Given the description of an element on the screen output the (x, y) to click on. 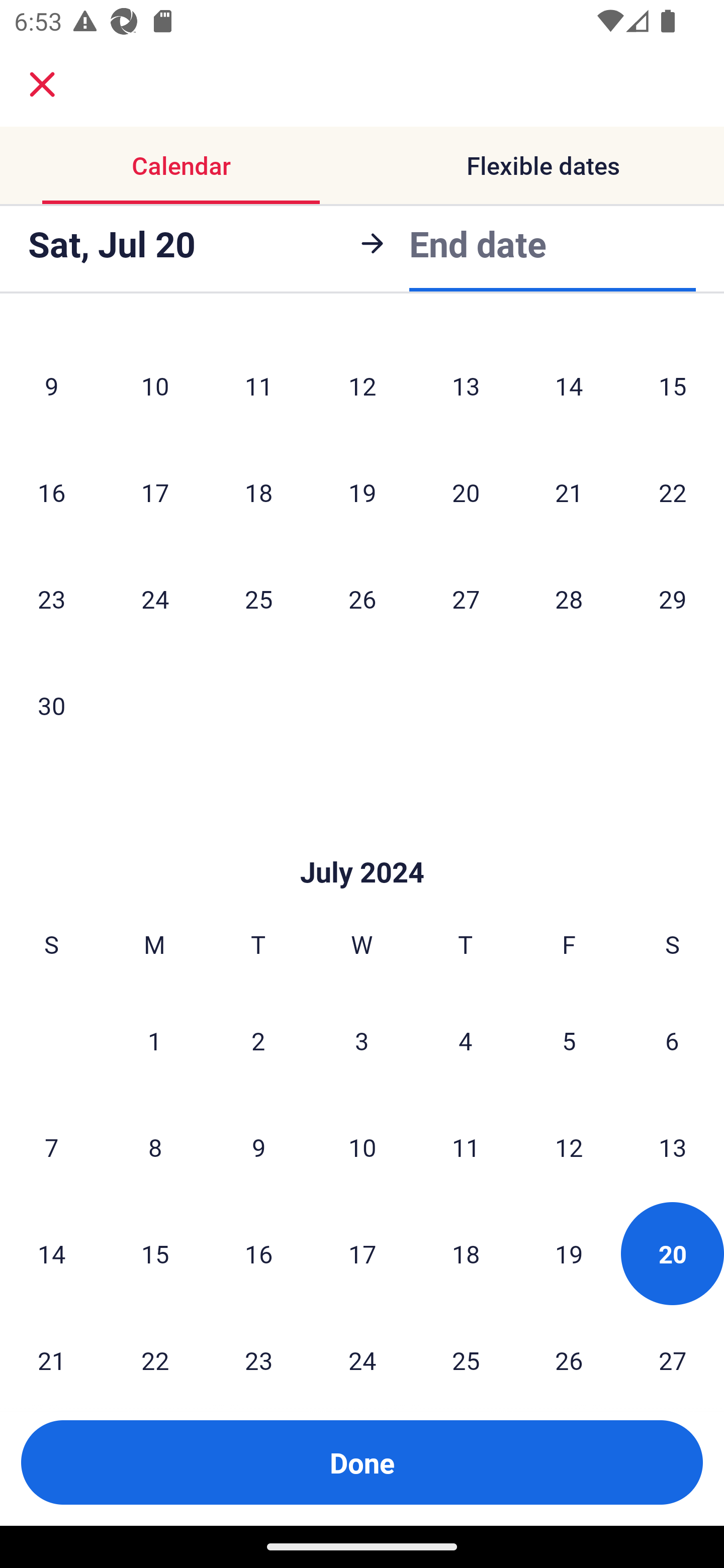
close. (42, 84)
Flexible dates (542, 164)
End date (477, 240)
9 Sunday, June 9, 2024 (51, 385)
10 Monday, June 10, 2024 (155, 385)
11 Tuesday, June 11, 2024 (258, 385)
12 Wednesday, June 12, 2024 (362, 385)
13 Thursday, June 13, 2024 (465, 385)
14 Friday, June 14, 2024 (569, 385)
15 Saturday, June 15, 2024 (672, 385)
16 Sunday, June 16, 2024 (51, 492)
17 Monday, June 17, 2024 (155, 492)
18 Tuesday, June 18, 2024 (258, 492)
19 Wednesday, June 19, 2024 (362, 492)
20 Thursday, June 20, 2024 (465, 492)
21 Friday, June 21, 2024 (569, 492)
22 Saturday, June 22, 2024 (672, 492)
23 Sunday, June 23, 2024 (51, 598)
24 Monday, June 24, 2024 (155, 598)
25 Tuesday, June 25, 2024 (258, 598)
26 Wednesday, June 26, 2024 (362, 598)
27 Thursday, June 27, 2024 (465, 598)
28 Friday, June 28, 2024 (569, 598)
29 Saturday, June 29, 2024 (672, 598)
30 Sunday, June 30, 2024 (51, 705)
Skip to Done (362, 841)
1 Monday, July 1, 2024 (154, 1040)
2 Tuesday, July 2, 2024 (257, 1040)
3 Wednesday, July 3, 2024 (361, 1040)
4 Thursday, July 4, 2024 (465, 1040)
5 Friday, July 5, 2024 (568, 1040)
6 Saturday, July 6, 2024 (672, 1040)
7 Sunday, July 7, 2024 (51, 1146)
8 Monday, July 8, 2024 (155, 1146)
9 Tuesday, July 9, 2024 (258, 1146)
10 Wednesday, July 10, 2024 (362, 1146)
11 Thursday, July 11, 2024 (465, 1146)
12 Friday, July 12, 2024 (569, 1146)
13 Saturday, July 13, 2024 (672, 1146)
14 Sunday, July 14, 2024 (51, 1253)
15 Monday, July 15, 2024 (155, 1253)
16 Tuesday, July 16, 2024 (258, 1253)
17 Wednesday, July 17, 2024 (362, 1253)
18 Thursday, July 18, 2024 (465, 1253)
19 Friday, July 19, 2024 (569, 1253)
21 Sunday, July 21, 2024 (51, 1343)
22 Monday, July 22, 2024 (155, 1343)
23 Tuesday, July 23, 2024 (258, 1343)
24 Wednesday, July 24, 2024 (362, 1343)
25 Thursday, July 25, 2024 (465, 1343)
26 Friday, July 26, 2024 (569, 1343)
27 Saturday, July 27, 2024 (672, 1343)
Done (361, 1462)
